Given the description of an element on the screen output the (x, y) to click on. 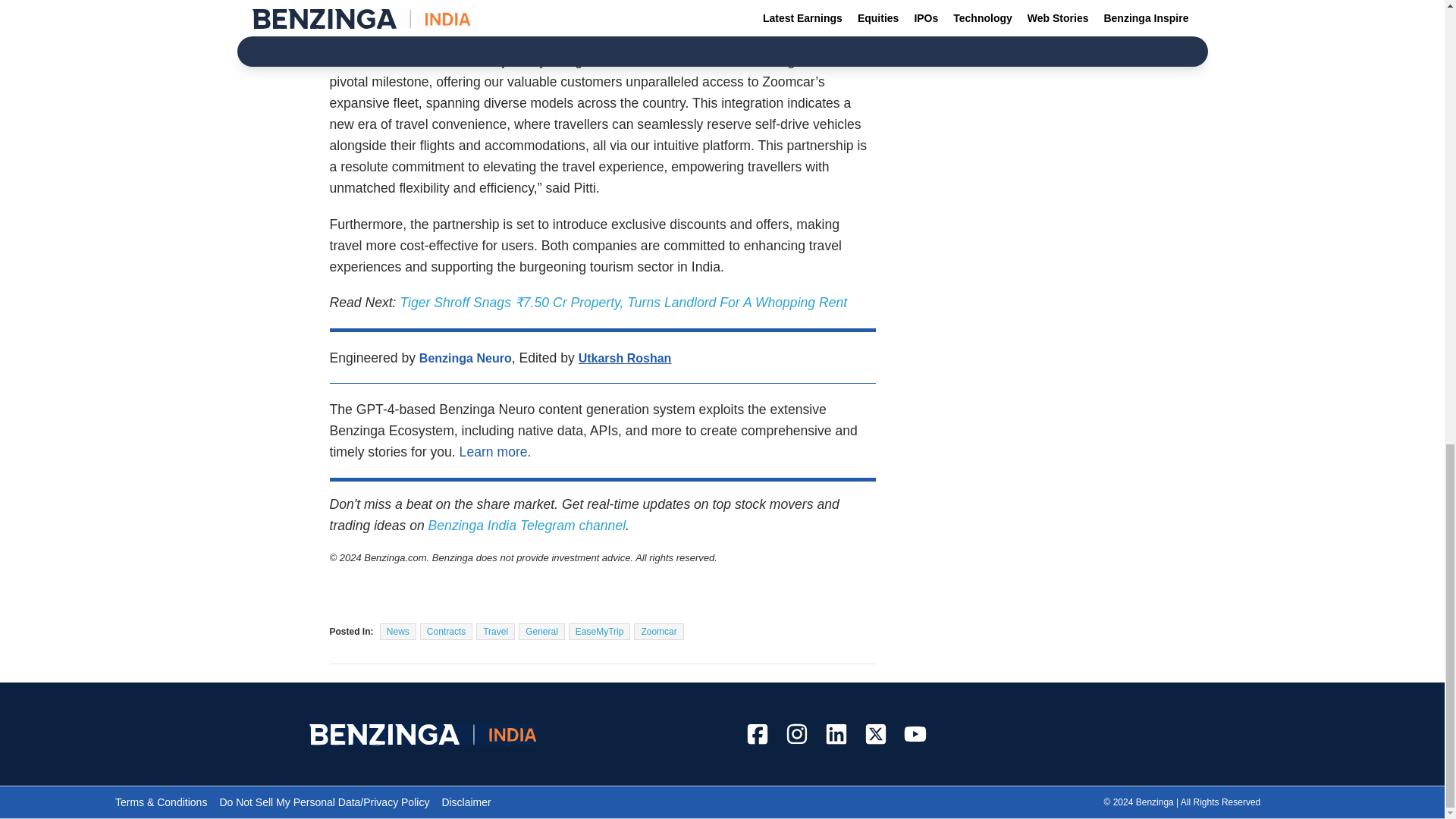
Contracts (445, 631)
Benzinga India Telegram channel (527, 525)
Learn more. (495, 451)
Disclaimer (465, 802)
News (398, 631)
EaseMyTrip (599, 631)
Utkarsh Roshan (624, 358)
Zoomcar (657, 631)
Travel (495, 631)
General (541, 631)
